Given the description of an element on the screen output the (x, y) to click on. 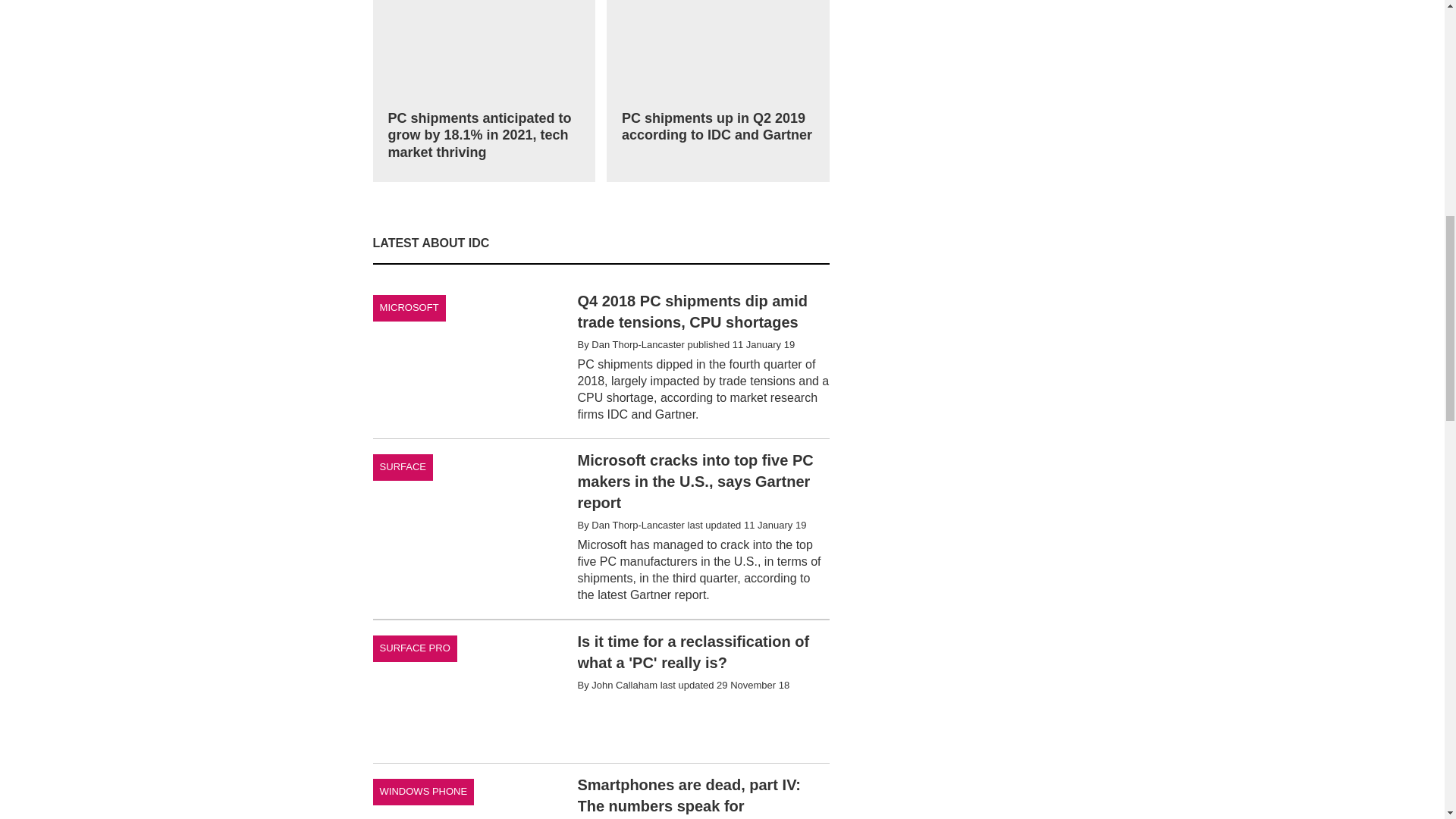
SURFACE PRO (414, 648)
SURFACE (402, 467)
PC shipments up in Q2 2019 according to IDC and Gartner (718, 76)
MICROSOFT (408, 307)
WINDOWS PHONE (423, 791)
